Given the description of an element on the screen output the (x, y) to click on. 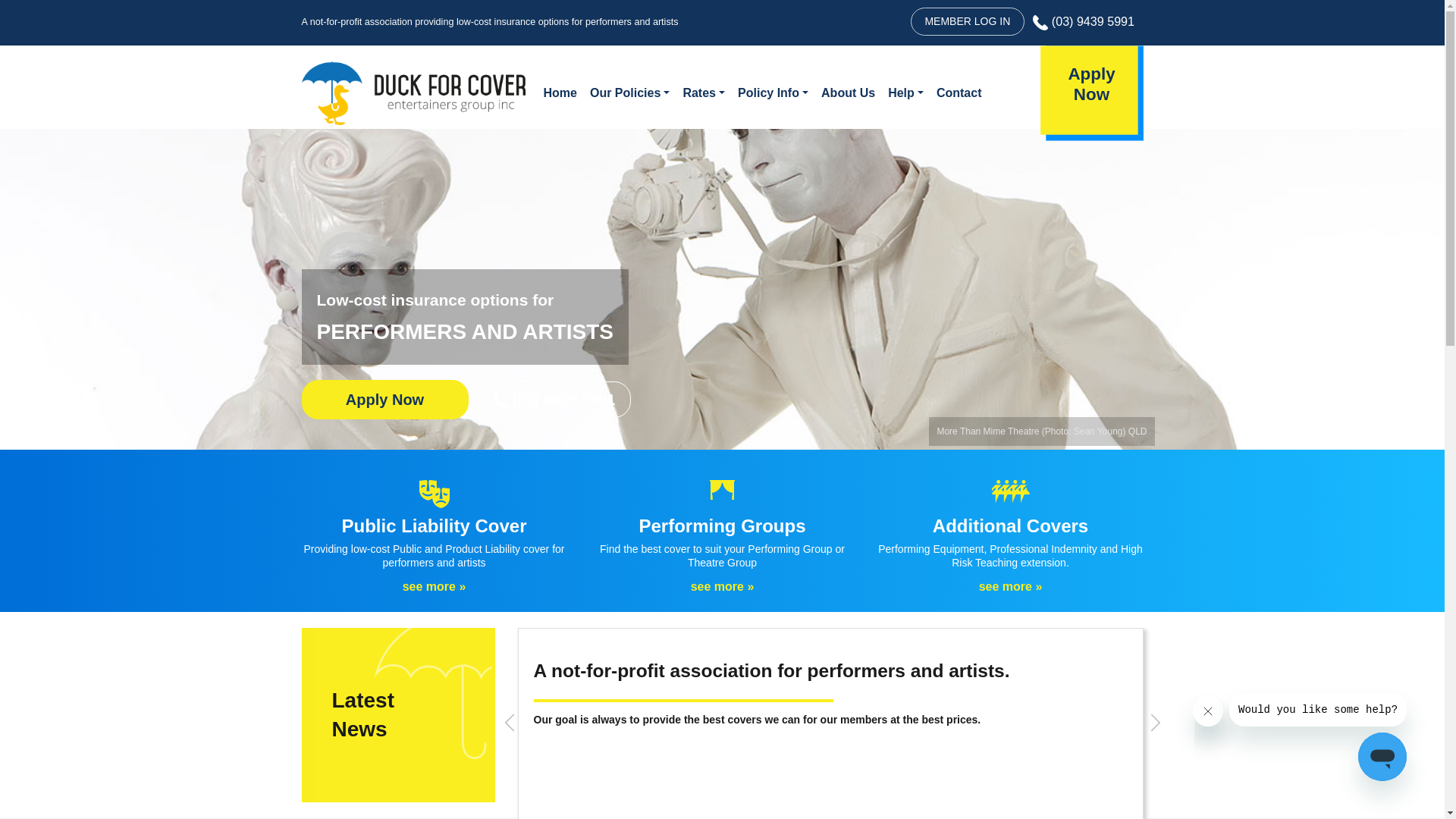
Home Element type: text (558, 93)
Policy Info Element type: text (771, 93)
 (03) 9439 5991 Element type: text (553, 399)
Button to launch messaging window Element type: hover (1382, 756)
Apply
Now Element type: text (1091, 93)
Previous Element type: text (509, 722)
 (03) 9439 5991 Element type: text (1083, 21)
Our Policies Element type: text (628, 93)
Close message Element type: hover (1207, 711)
Message from company Element type: hover (1317, 709)
Apply Now Element type: text (384, 399)
Next Element type: text (1155, 722)
Help Element type: text (904, 93)
Contact Element type: text (957, 93)
MEMBER LOG IN Element type: text (967, 21)
About Us Element type: text (846, 93)
Rates Element type: text (702, 93)
